Given the description of an element on the screen output the (x, y) to click on. 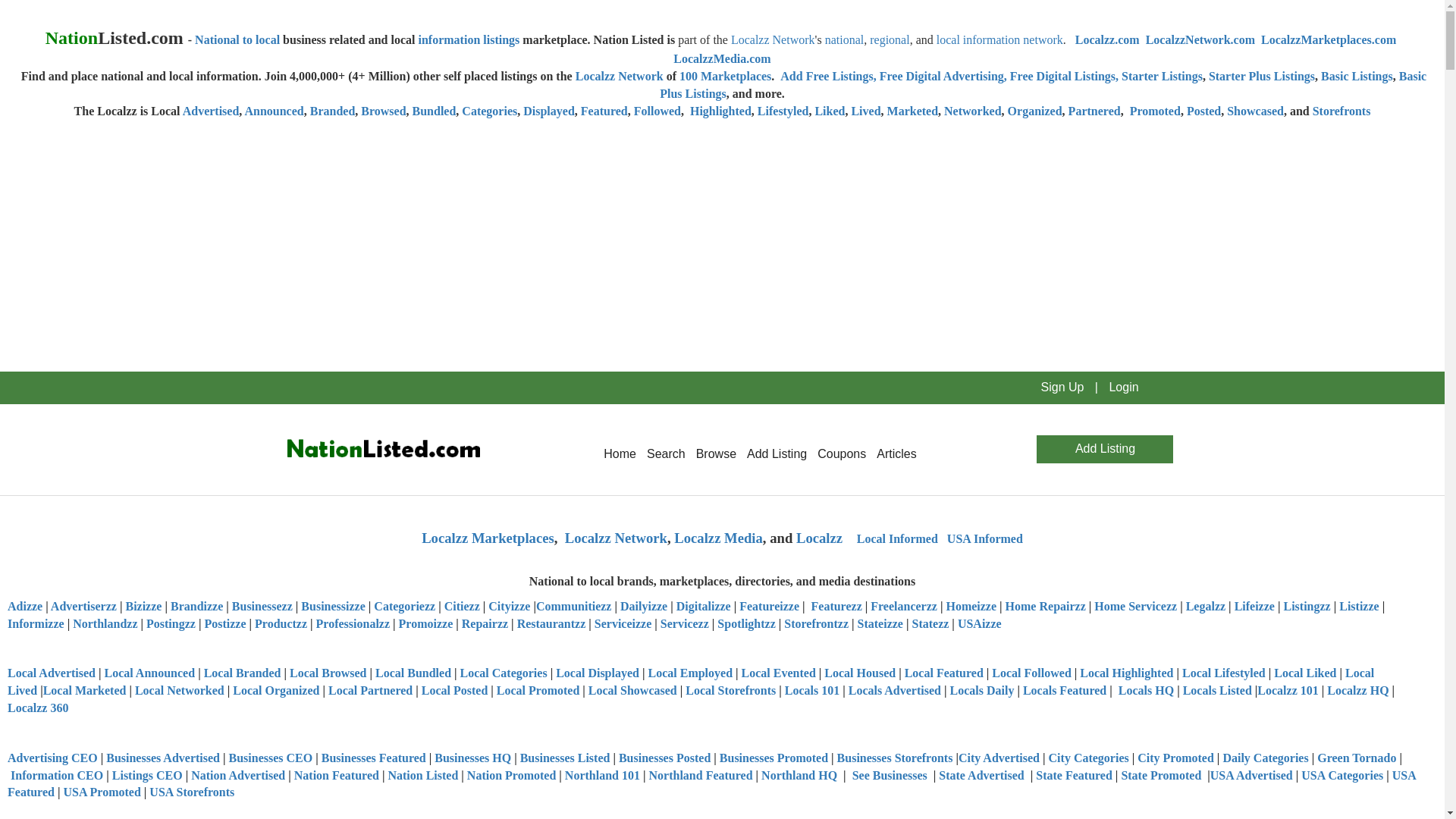
Localzz Network (619, 75)
LocalzzMarketplaces.com (1328, 39)
national (844, 39)
Localzz.com (1107, 39)
Showcased (1255, 110)
Advertised (211, 110)
NationListed.com (381, 449)
Browsed (383, 110)
 Highlighted (719, 110)
Displayed (548, 110)
Basic Plus Listings (1042, 84)
Basic Listings (1356, 75)
Announced (273, 110)
information listings (469, 39)
regional (888, 39)
